Given the description of an element on the screen output the (x, y) to click on. 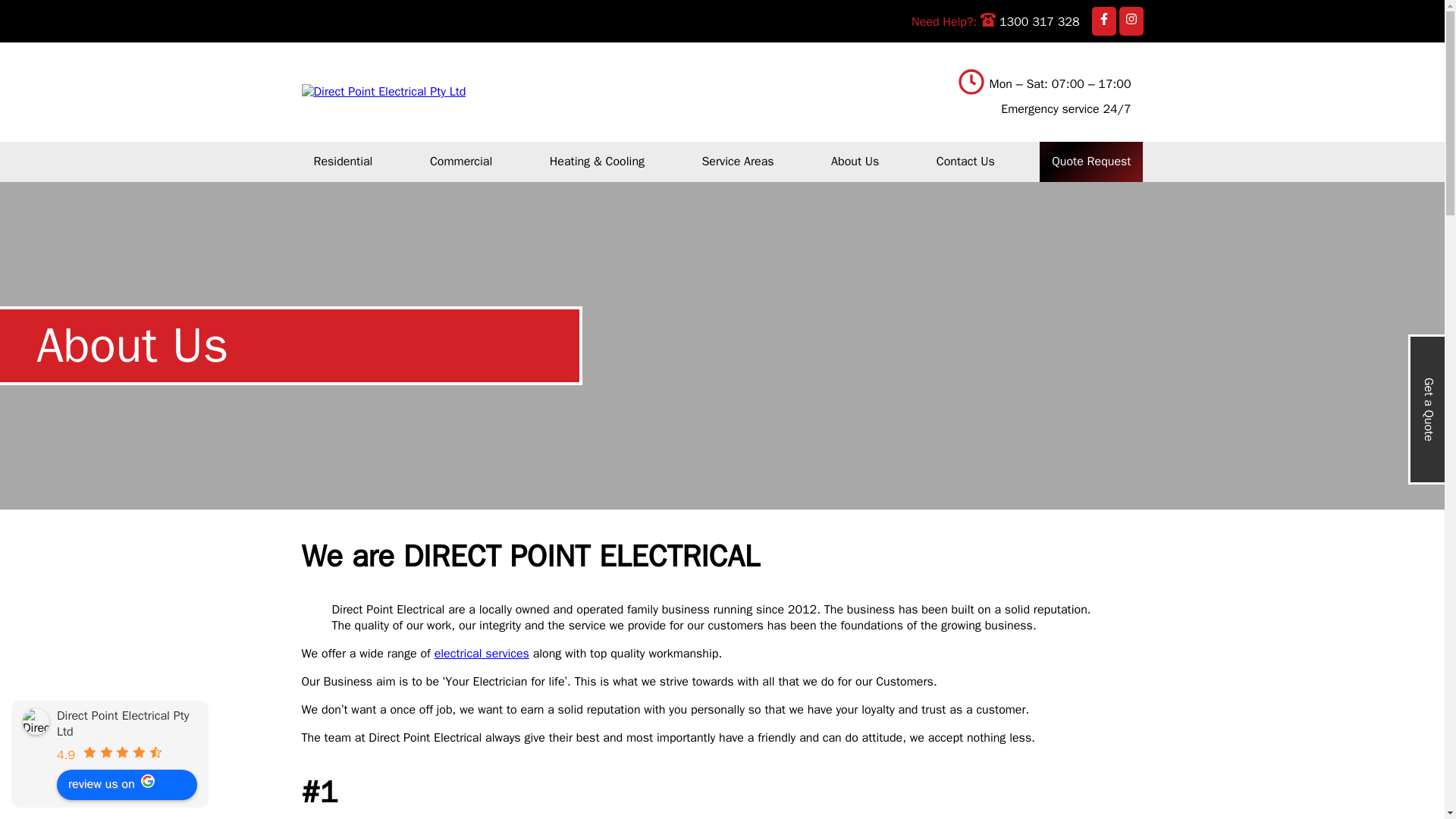
Residential (343, 161)
Service Areas (737, 161)
Direct Point Electrical Pty Ltd (36, 721)
Commercial (460, 161)
About Us (854, 161)
1300 317 328 (1028, 21)
